Given the description of an element on the screen output the (x, y) to click on. 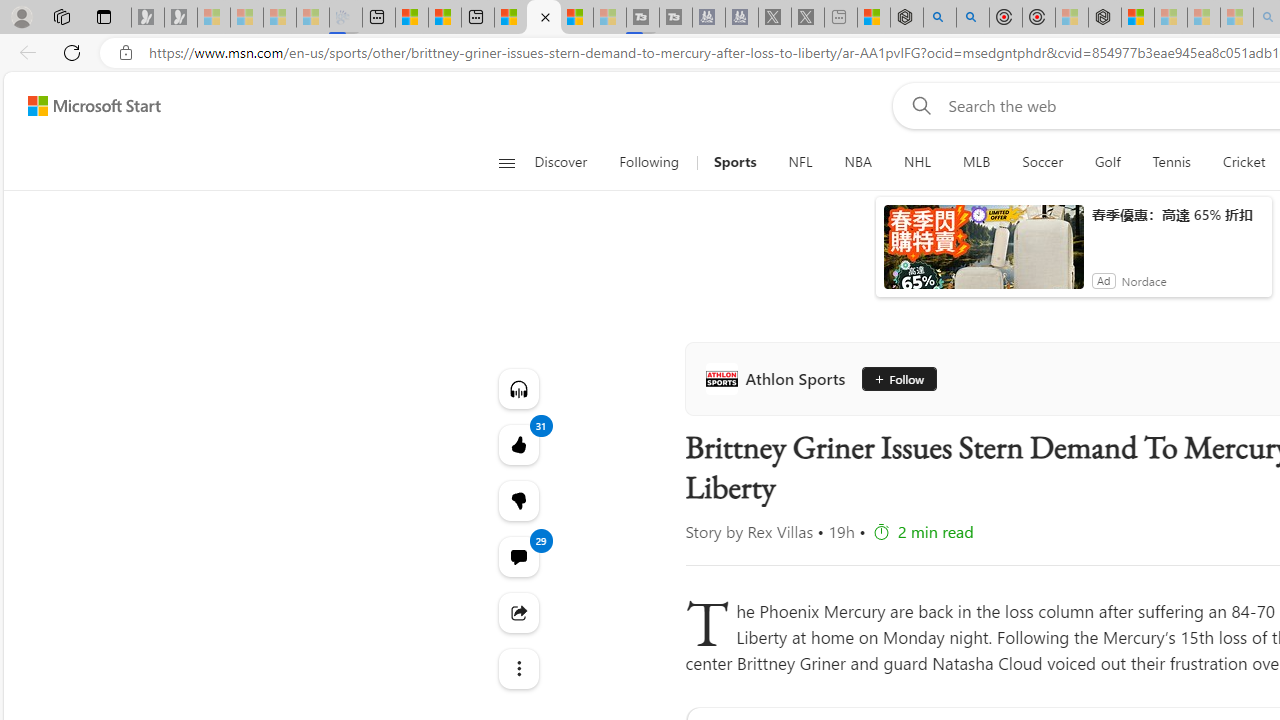
Newsletter Sign Up - Sleeping (181, 17)
Tennis (1172, 162)
Athlon Sports (779, 378)
Following (649, 162)
Open navigation menu (506, 162)
Personal Profile (21, 16)
NHL (917, 162)
Streaming Coverage | T3 - Sleeping (643, 17)
Soccer (1041, 162)
Dislike (517, 500)
Back (24, 52)
More like this31Fewer like thisView comments (517, 500)
